Given the description of an element on the screen output the (x, y) to click on. 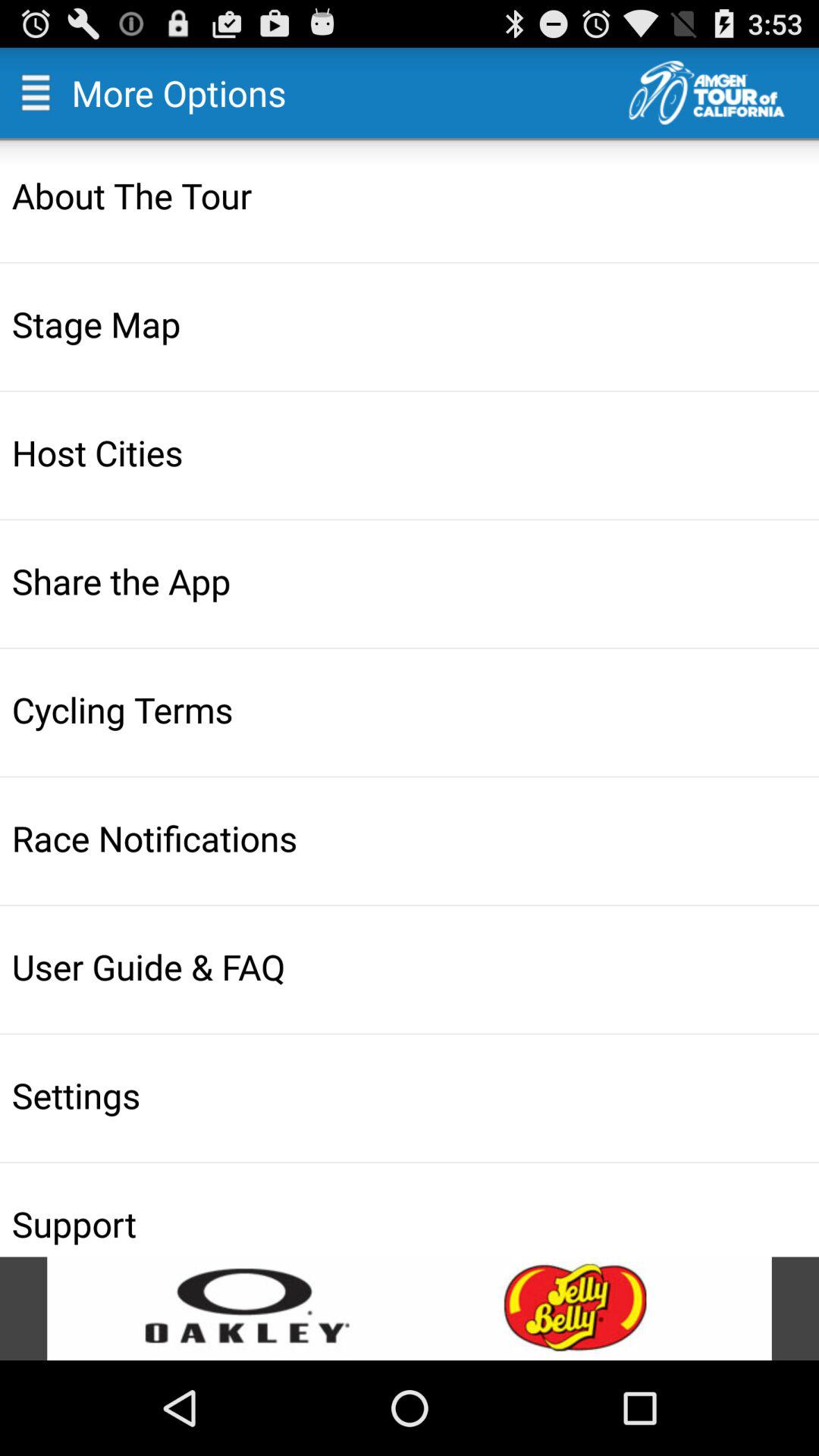
turn on icon above stage map (411, 194)
